Given the description of an element on the screen output the (x, y) to click on. 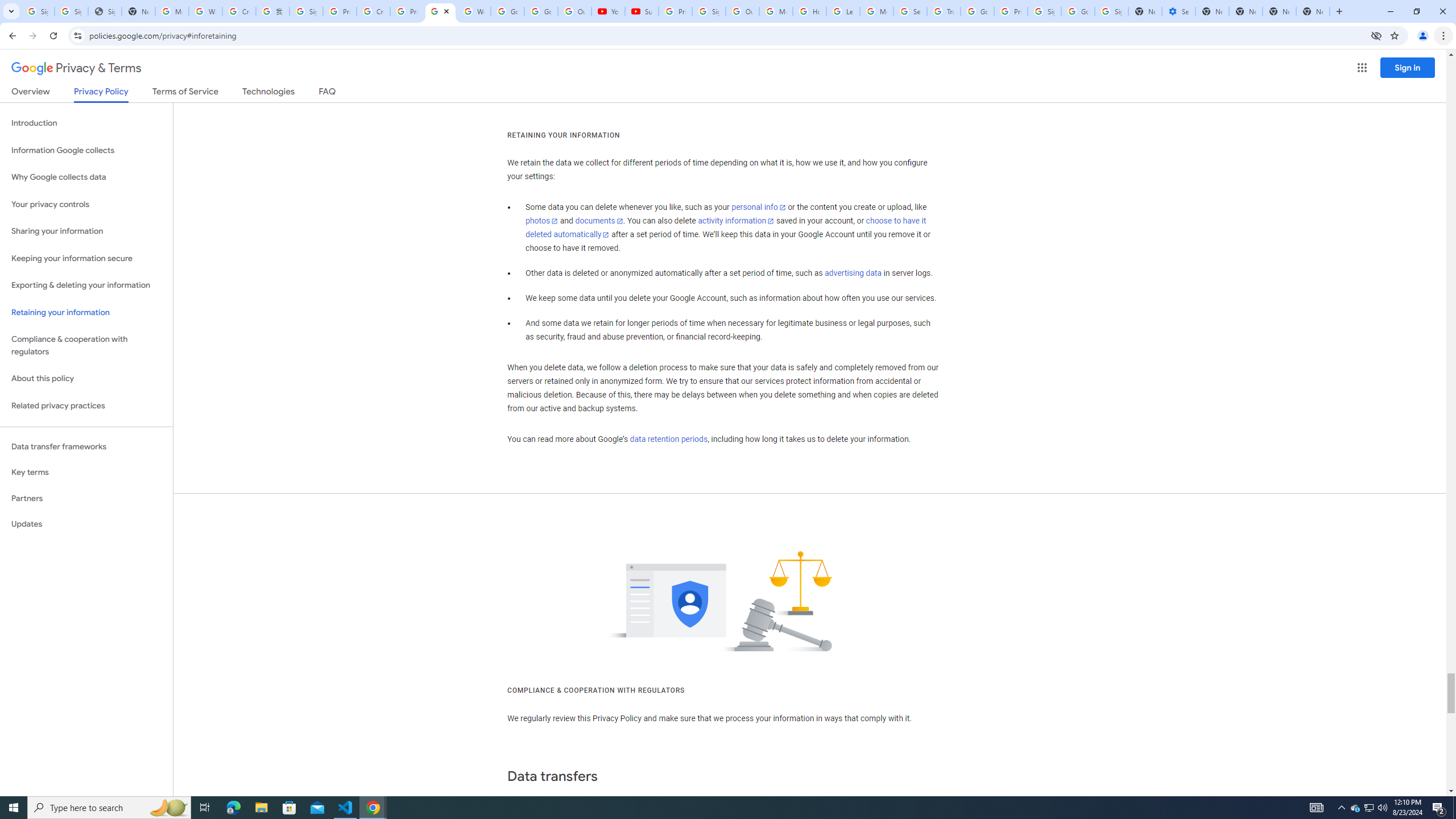
Google Account (541, 11)
Information Google collects (86, 150)
Compliance & cooperation with regulators (86, 345)
Exporting & deleting your information (86, 284)
